Given the description of an element on the screen output the (x, y) to click on. 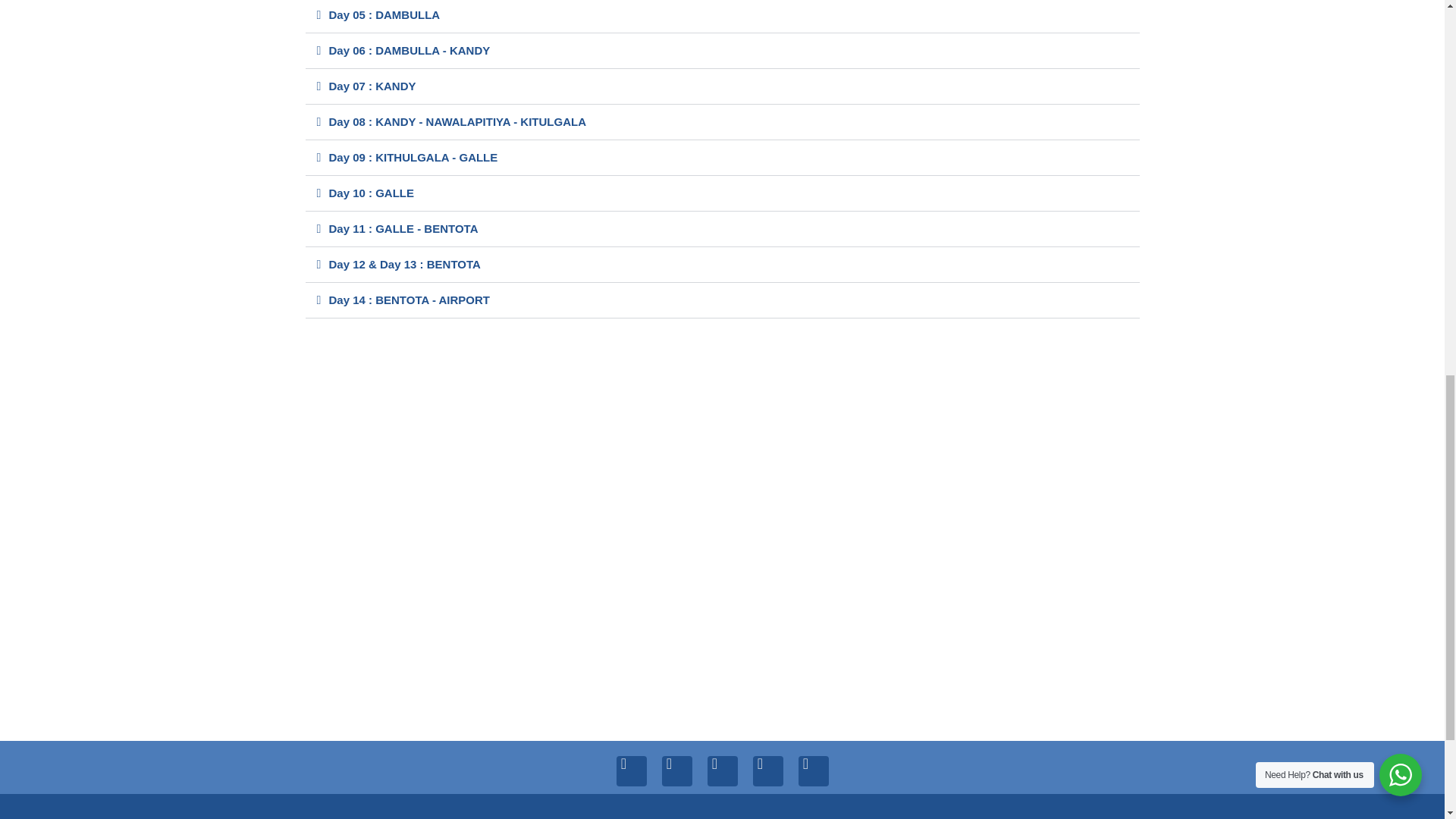
Day 05 : DAMBULLA (385, 14)
